Given the description of an element on the screen output the (x, y) to click on. 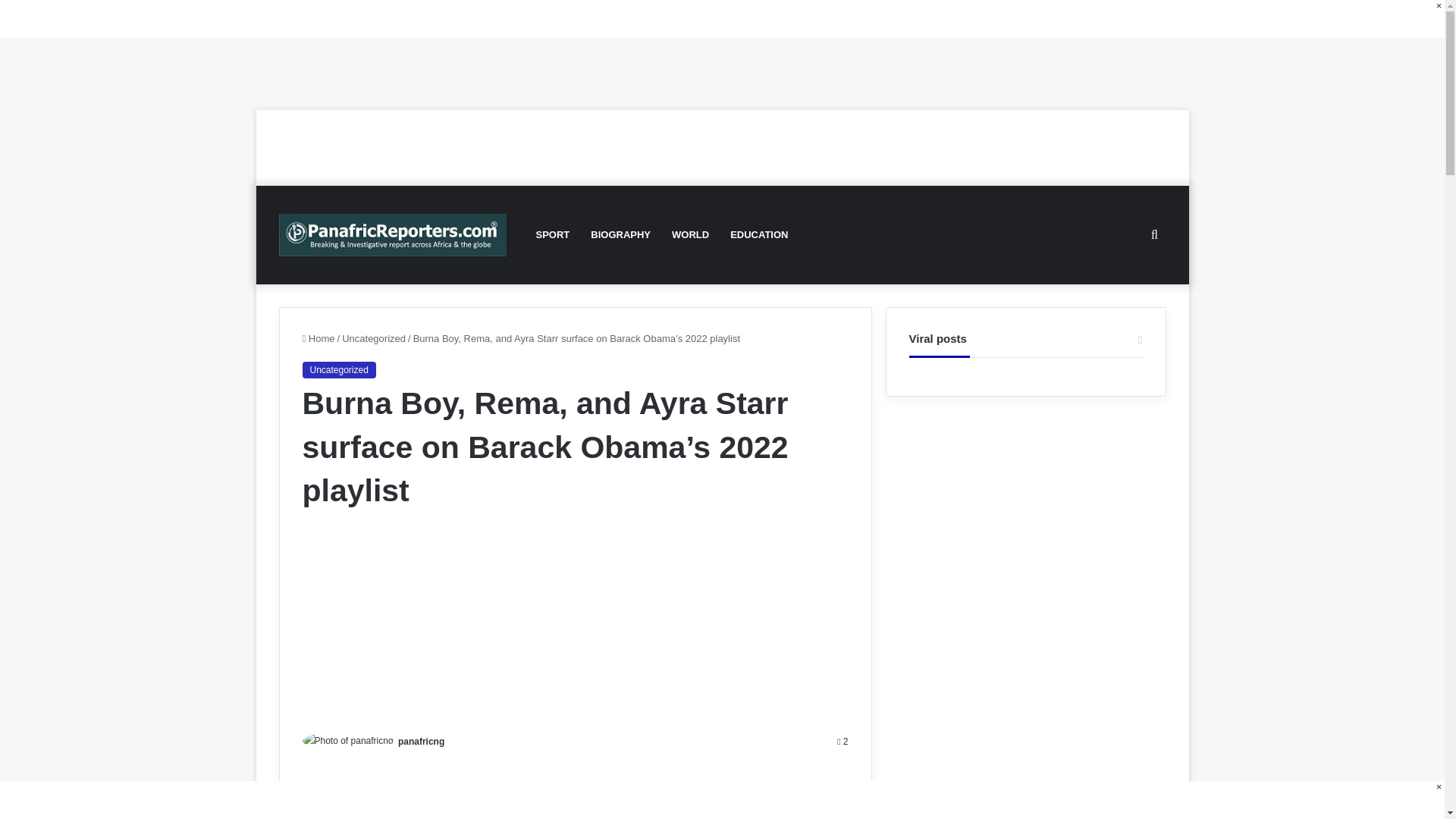
panafricng (420, 741)
panafricng (420, 741)
Uncategorized (374, 337)
Uncategorized (338, 369)
Home (317, 337)
Panafricreporters (392, 234)
